Given the description of an element on the screen output the (x, y) to click on. 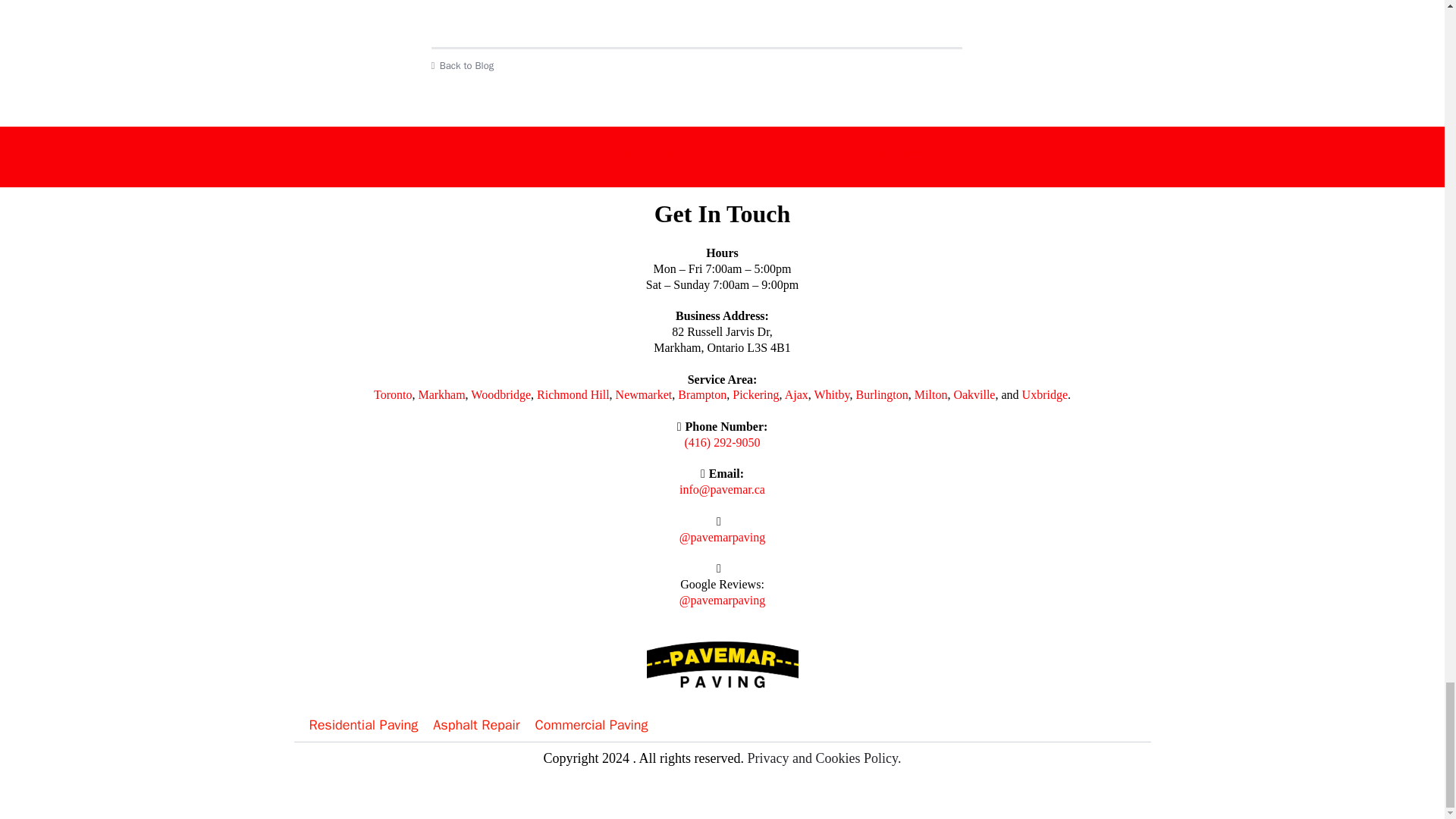
Markham (440, 394)
Newmarket (643, 394)
Woodbridge (500, 394)
Pavemar Paving (696, 0)
Back to Blog (695, 65)
Richmond Hill (573, 394)
Toronto (393, 394)
